Given the description of an element on the screen output the (x, y) to click on. 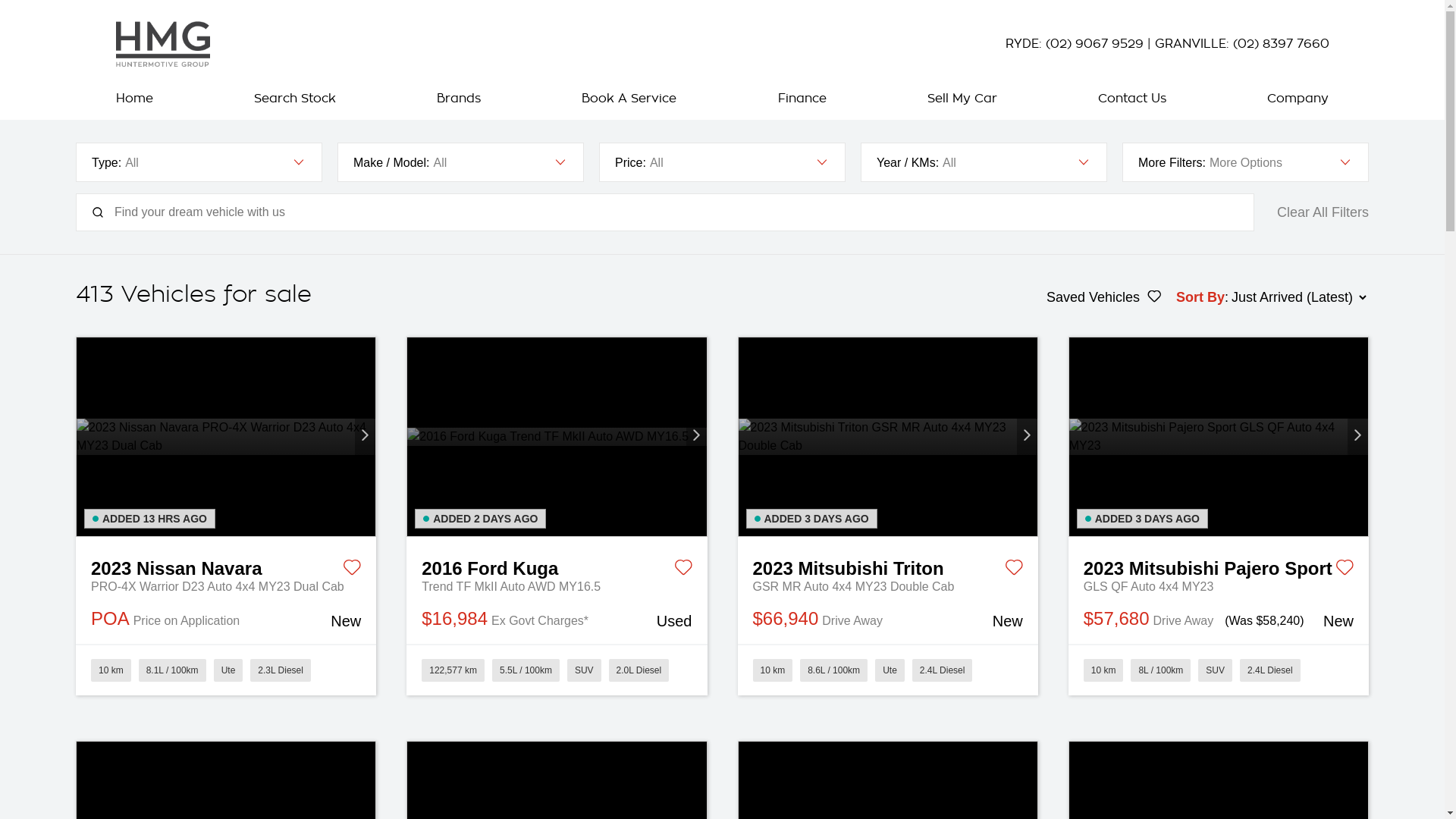
2023 Mitsubishi Triton
GSR MR Auto 4x4 MY23 Double Cab Element type: text (887, 566)
Book A Service Element type: text (629, 98)
POA
Price on Application
New Element type: text (225, 619)
$66,940
Drive Away
New Element type: text (887, 619)
2023 Nissan Navara PRO-4X Warrior D23 Auto 4x4 MY23 Dual Cab Element type: hover (225, 436)
2023 Mitsubishi Triton GSR MR Auto 4x4 MY23 Double Cab Element type: hover (887, 436)
10 km
8.6L / 100km
Ute
2.4L Diesel Element type: text (887, 669)
Save Vehicle Element type: hover (351, 569)
Contact Us Element type: text (1131, 98)
RYDE: (02) 9067 9529 | Element type: text (1079, 43)
Save Vehicle Element type: hover (1013, 569)
2023 Nissan Navara
PRO-4X Warrior D23 Auto 4x4 MY23 Dual Cab Element type: text (225, 566)
2023 Mitsubishi Pajero Sport
GLS QF Auto 4x4 MY23 Element type: text (1218, 566)
Save Vehicle Element type: hover (682, 569)
$16,984
Ex Govt Charges*
Used Element type: text (556, 619)
122,577 km
5.5L / 100km
SUV
2.0L Diesel Element type: text (556, 669)
2016 Ford Kuga Trend TF MkII Auto AWD MY16.5 Element type: hover (556, 436)
10 km
8L / 100km
SUV
2.4L Diesel Element type: text (1218, 669)
$57,680
Drive Away
(Was $58,240)
New Element type: text (1218, 619)
Company Element type: text (1293, 98)
Finance Element type: text (802, 98)
Search Stock Element type: text (294, 98)
Brands Element type: text (458, 98)
Clear All Filters Element type: text (1322, 212)
Save Vehicle Element type: hover (1344, 569)
GRANVILLE: (02) 8397 7660 Element type: text (1241, 43)
Sell My Car Element type: text (961, 98)
Home Element type: text (137, 98)
2023 Mitsubishi Pajero Sport GLS QF Auto 4x4 MY23 Element type: hover (1218, 436)
Saved Vehicles Element type: text (1103, 297)
2016 Ford Kuga
Trend TF MkII Auto AWD MY16.5 Element type: text (556, 566)
10 km
8.1L / 100km
Ute
2.3L Diesel Element type: text (225, 669)
